Given the description of an element on the screen output the (x, y) to click on. 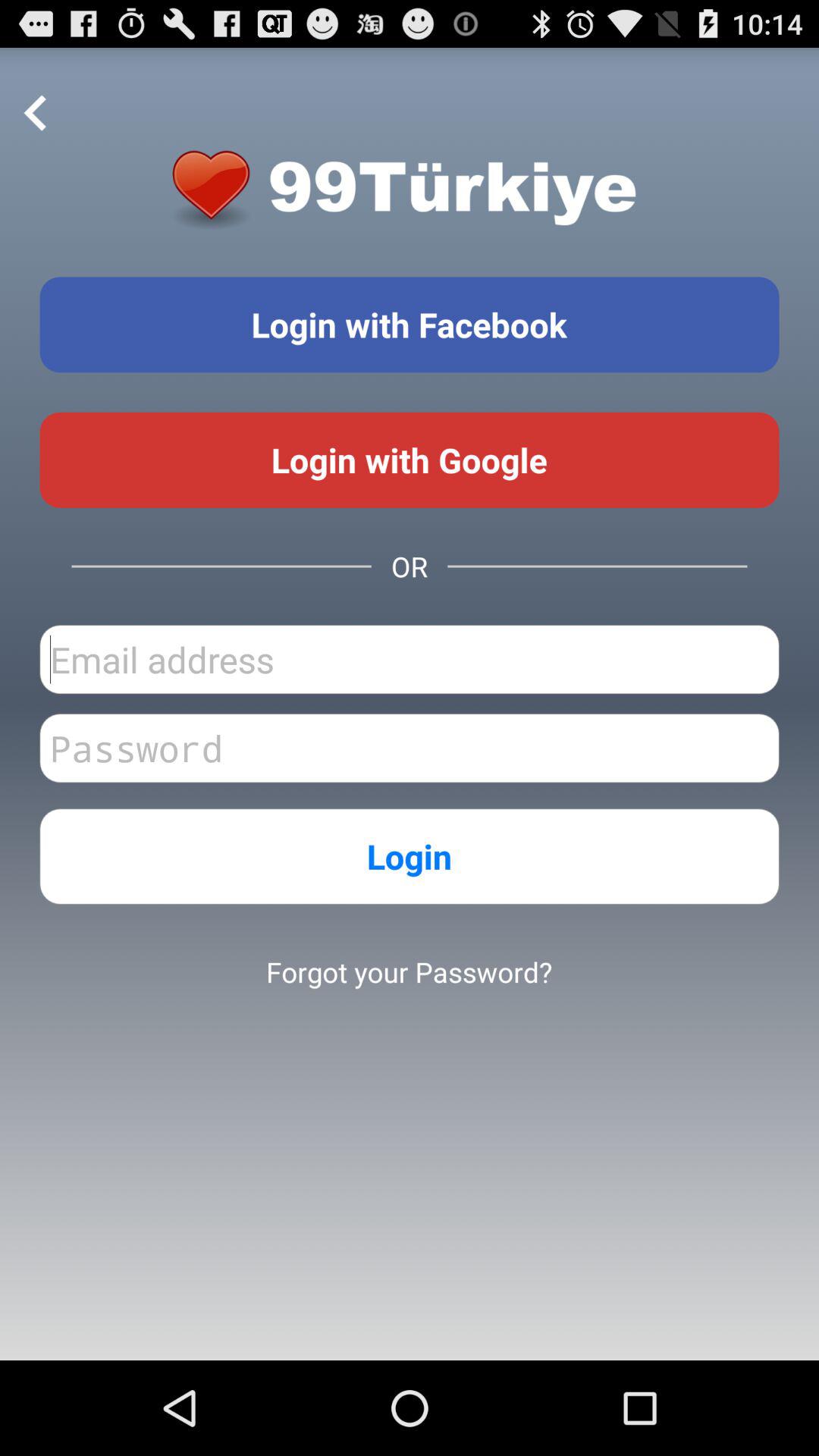
password text box (409, 747)
